Given the description of an element on the screen output the (x, y) to click on. 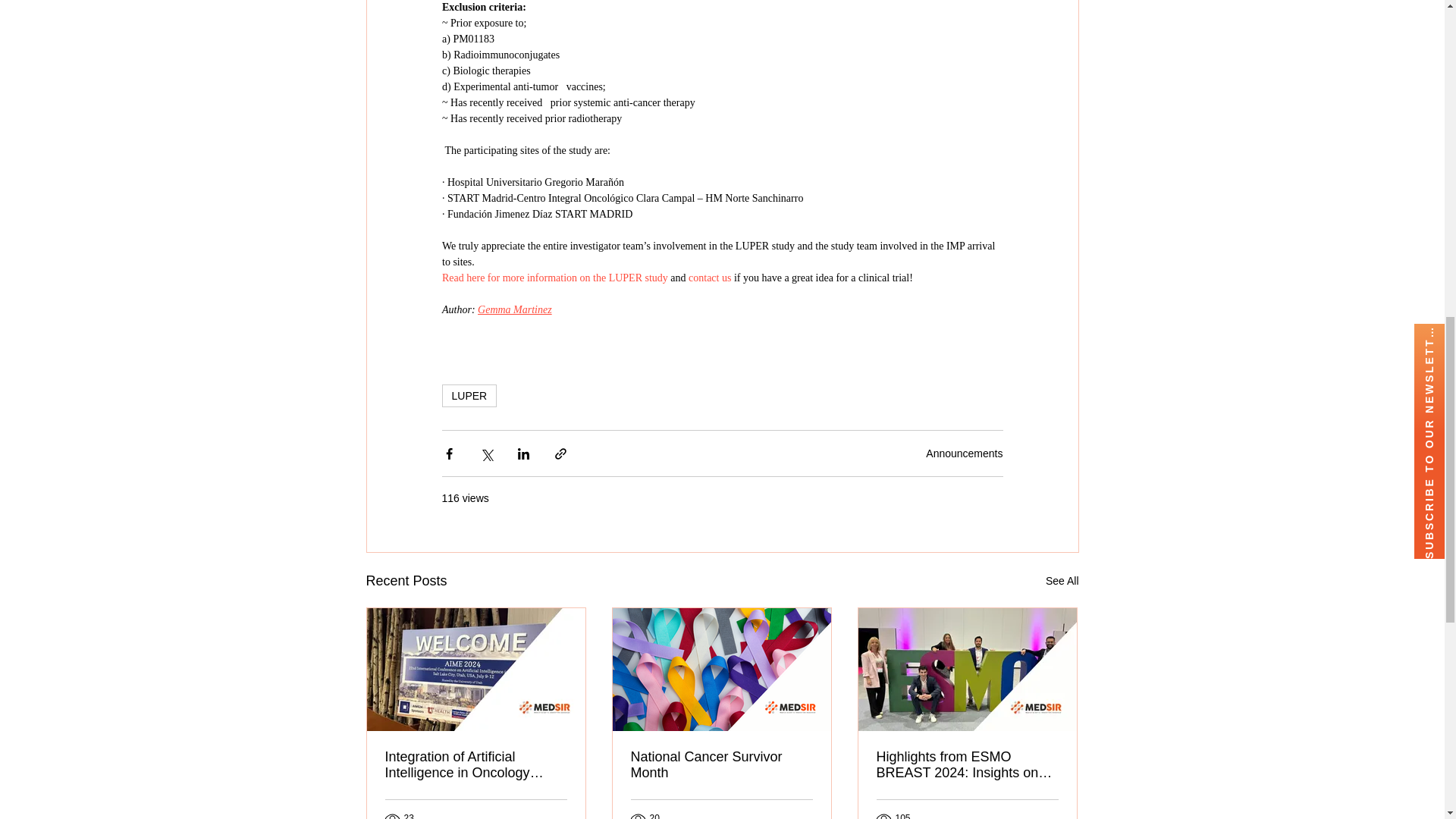
contact us (709, 277)
Read here for more information on the LUPER study (553, 277)
Gemma Martinez (514, 309)
Integration of Artificial Intelligence in Oncology Research (476, 765)
LUPER (468, 395)
See All (1061, 581)
National Cancer Survivor Month (721, 765)
Announcements (964, 453)
